Given the description of an element on the screen output the (x, y) to click on. 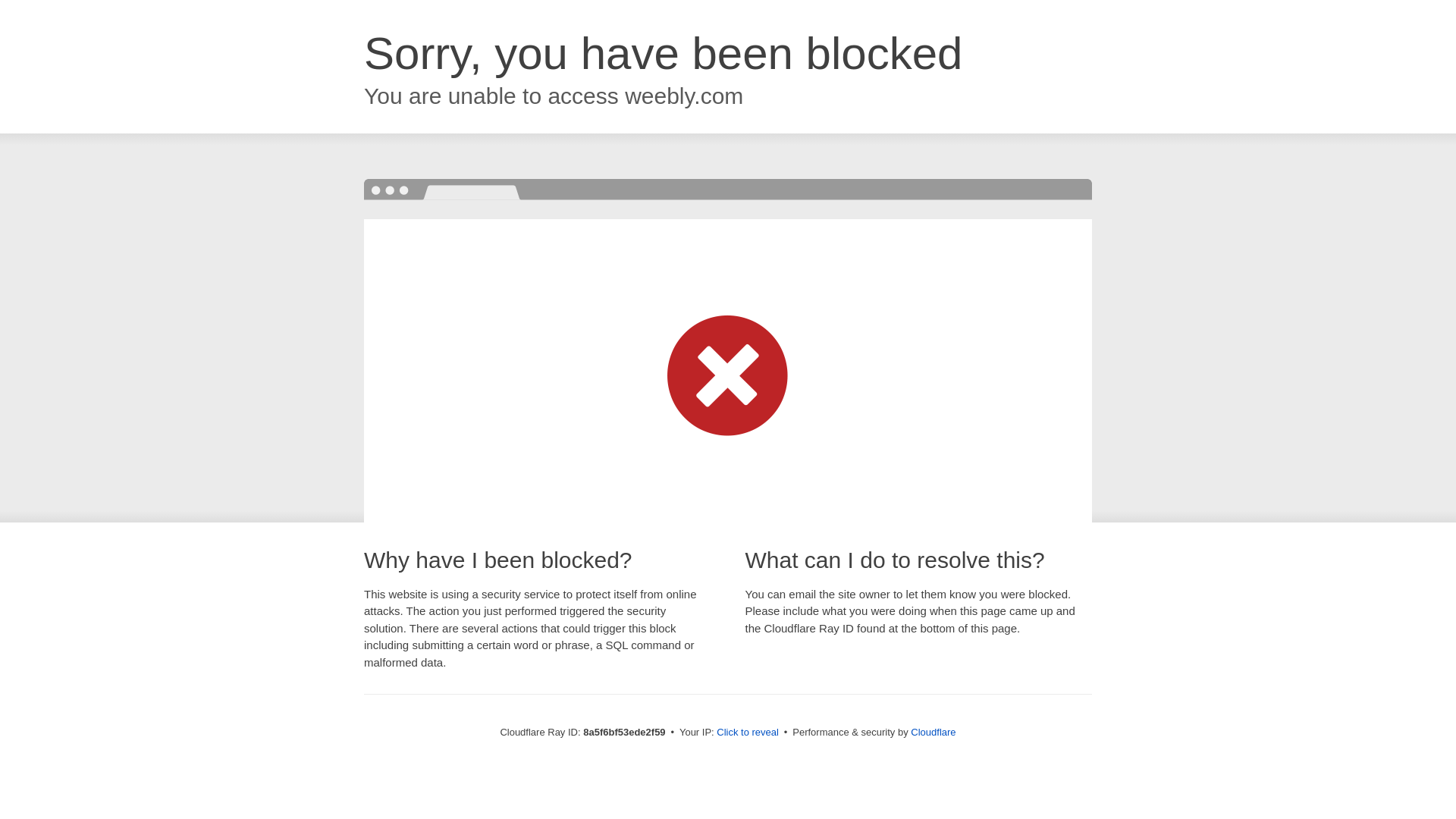
Click to reveal (747, 732)
Cloudflare (933, 731)
